Given the description of an element on the screen output the (x, y) to click on. 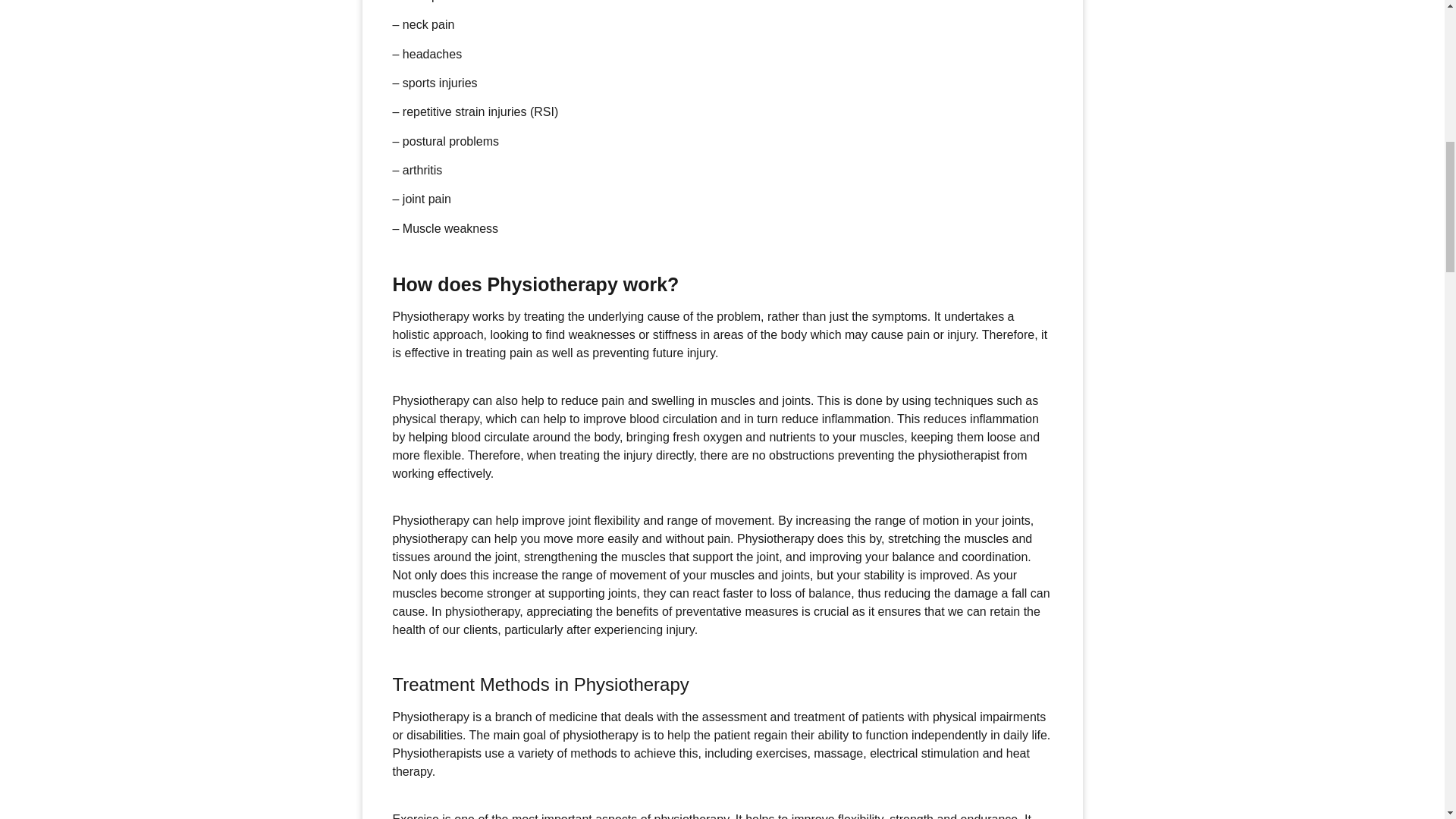
flexibility (616, 520)
holistic (411, 334)
injury (700, 352)
Physiotherapy (430, 316)
